Given the description of an element on the screen output the (x, y) to click on. 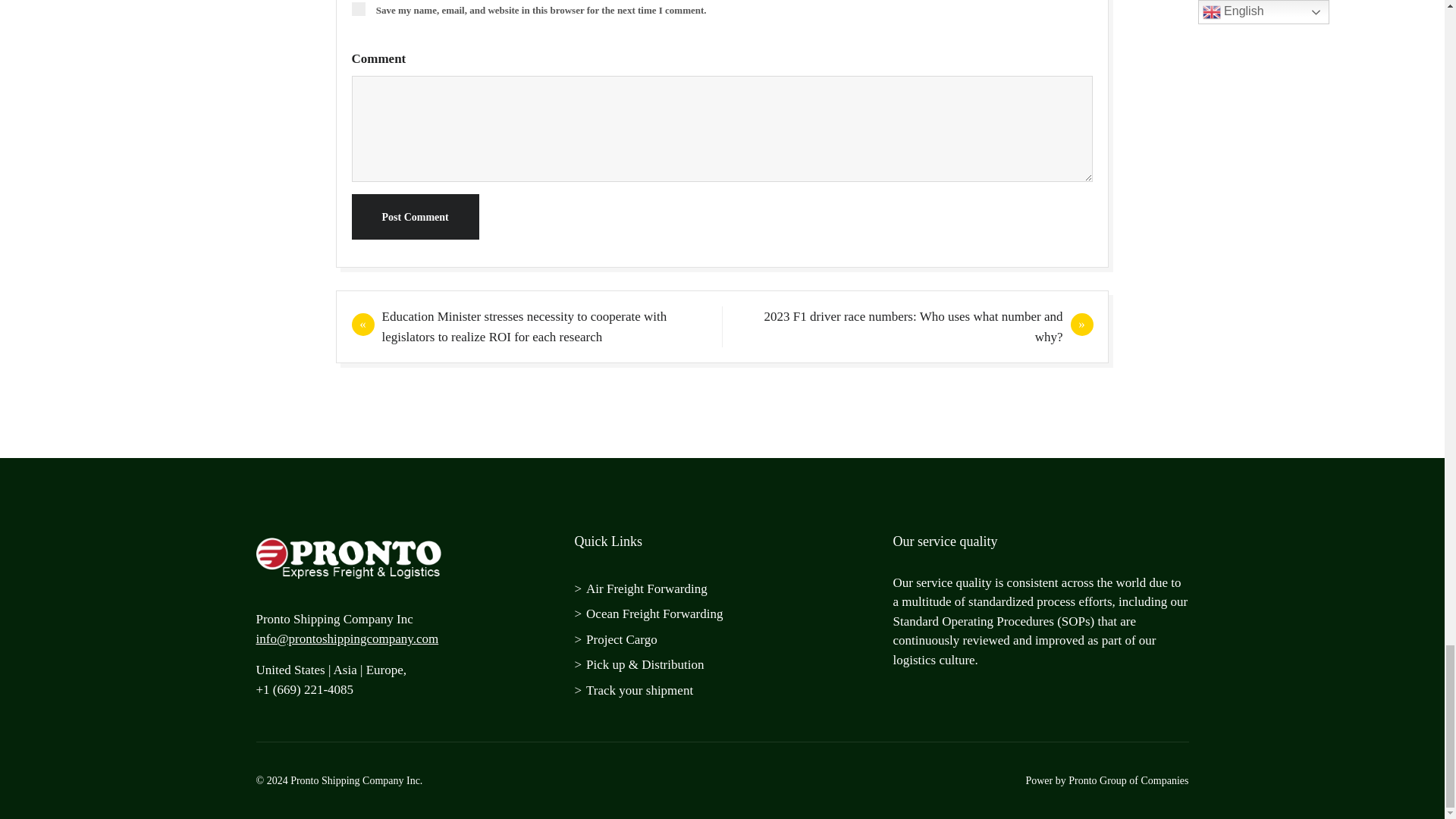
yes (358, 8)
